Given the description of an element on the screen output the (x, y) to click on. 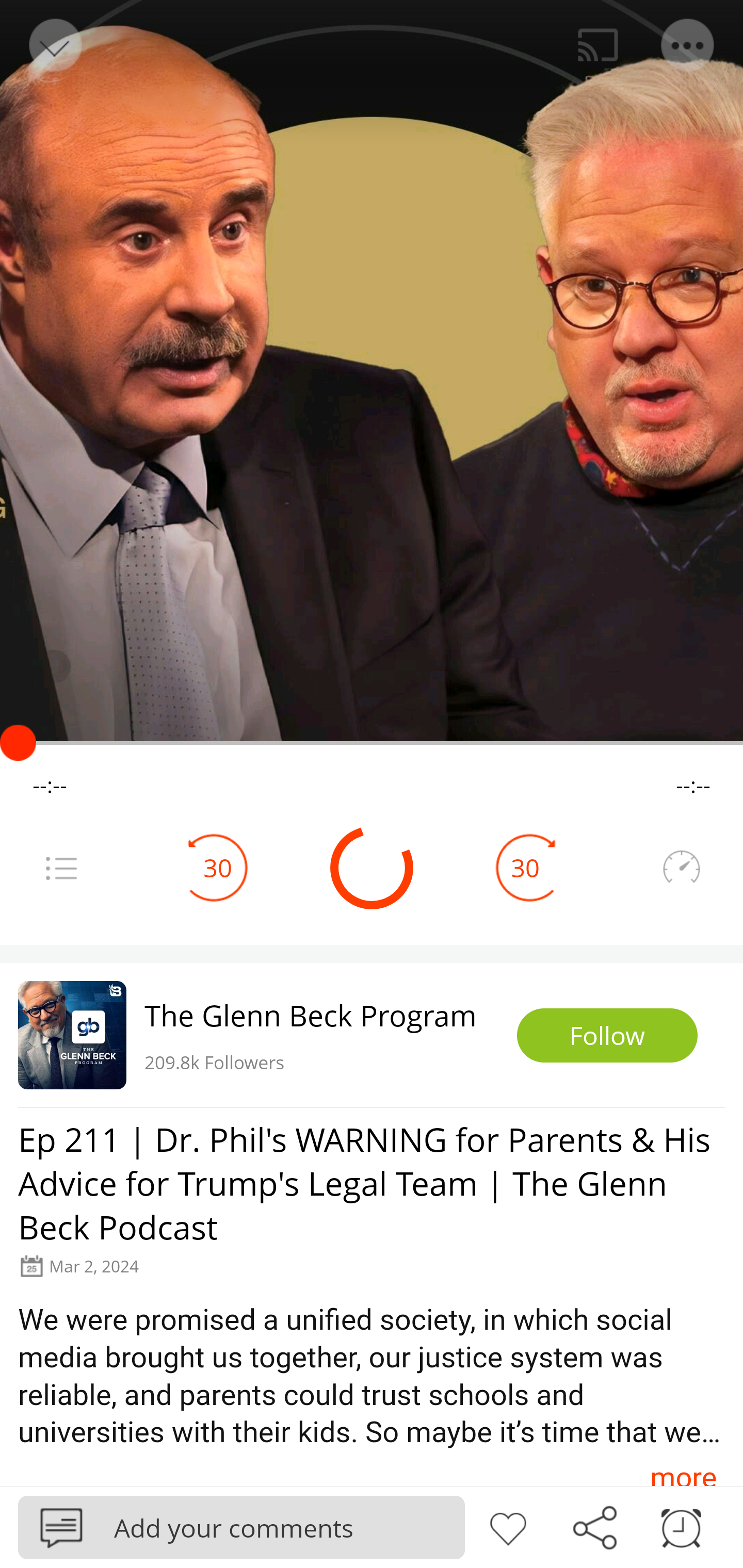
Back (53, 45)
Cast. Disconnected (597, 45)
Menu (688, 45)
30 Seek Backward (217, 867)
30 Seek Forward (525, 867)
Menu (60, 867)
Speedometer (681, 867)
The Glenn Beck Program 209.8k Followers Follow (371, 1034)
Follow (607, 1035)
Like (508, 1526)
Share (594, 1526)
Sleep timer (681, 1526)
Podbean Add your comments (241, 1526)
